Given the description of an element on the screen output the (x, y) to click on. 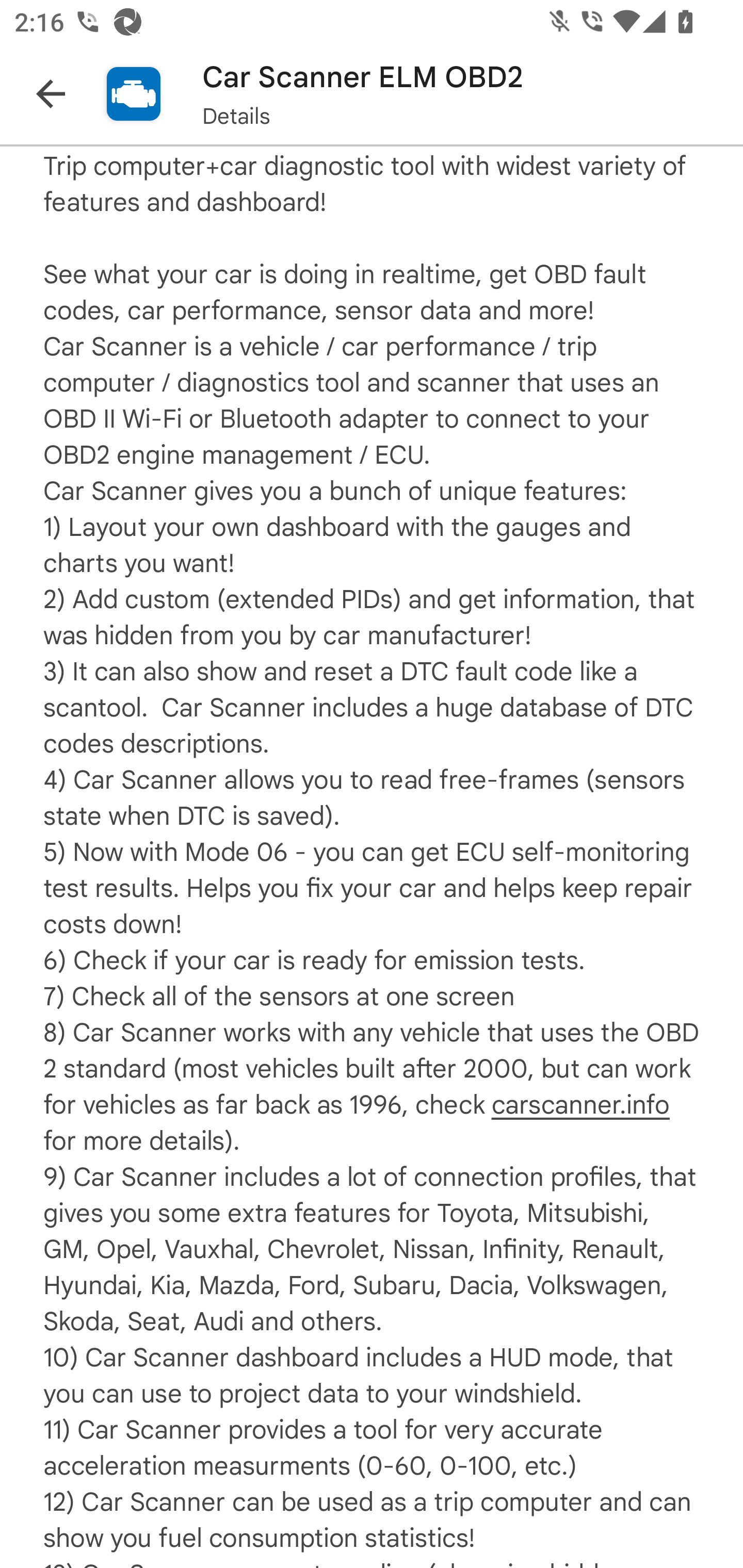
Navigate up (50, 93)
